Given the description of an element on the screen output the (x, y) to click on. 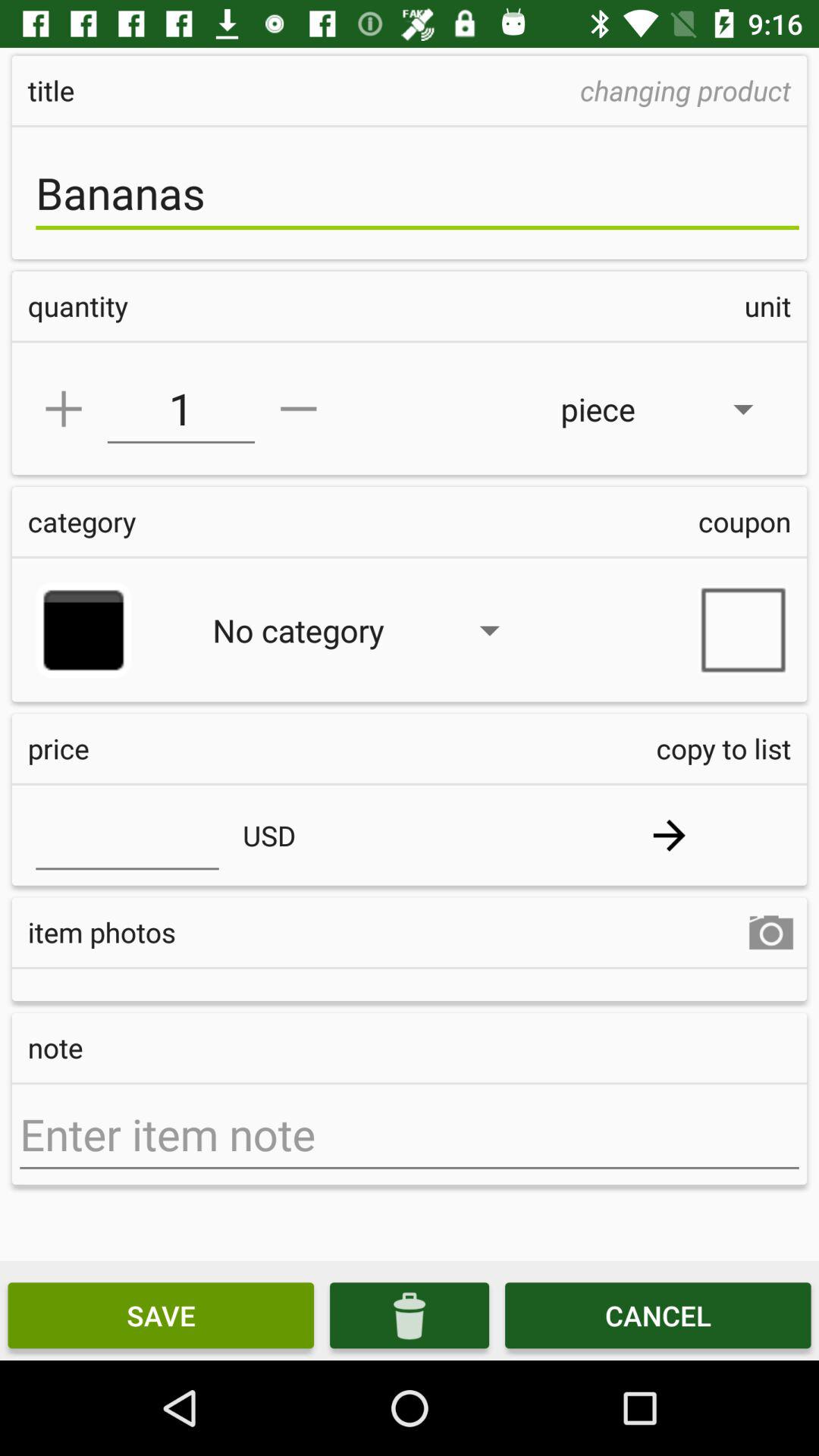
tap item at the bottom left corner (160, 1315)
